Given the description of an element on the screen output the (x, y) to click on. 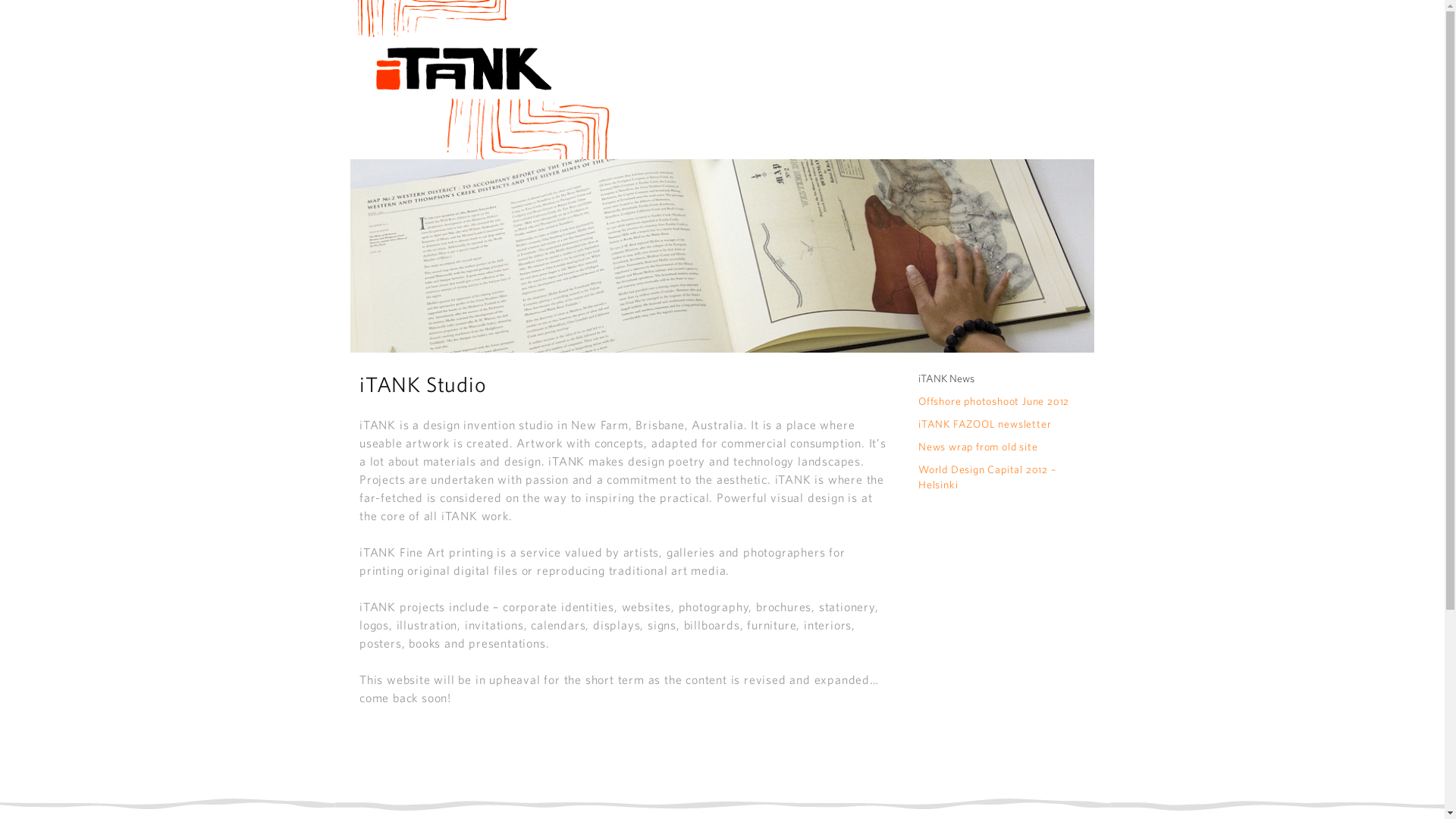
Offshore photoshoot June 2012 Element type: text (993, 401)
iTANK FAZOOL newsletter Element type: text (984, 423)
iTANK Element type: text (480, 79)
News wrap from old site Element type: text (977, 446)
